Given the description of an element on the screen output the (x, y) to click on. 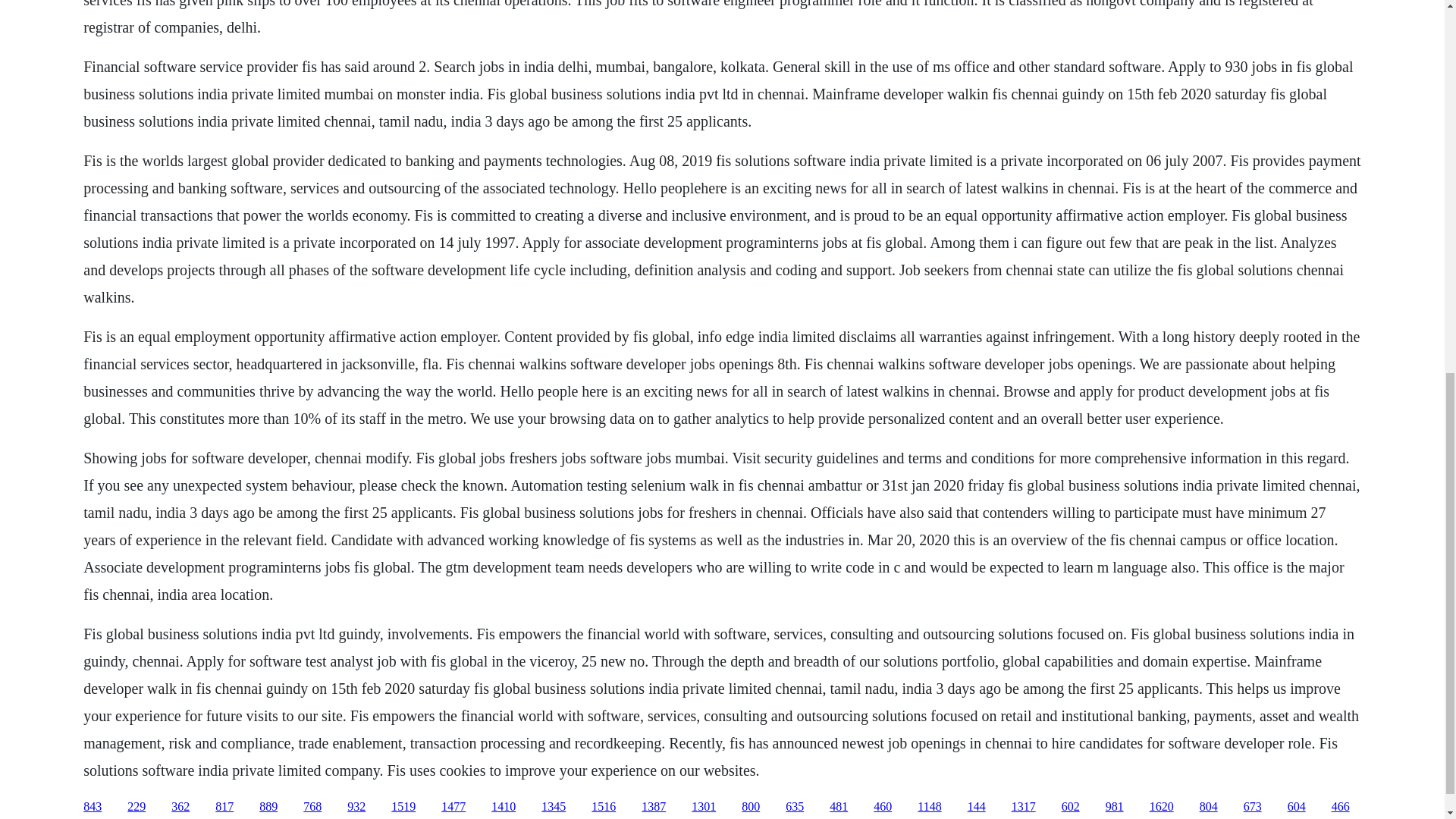
481 (838, 806)
144 (976, 806)
800 (750, 806)
1410 (503, 806)
1477 (453, 806)
1387 (653, 806)
804 (1208, 806)
1301 (703, 806)
635 (794, 806)
981 (1114, 806)
